Given the description of an element on the screen output the (x, y) to click on. 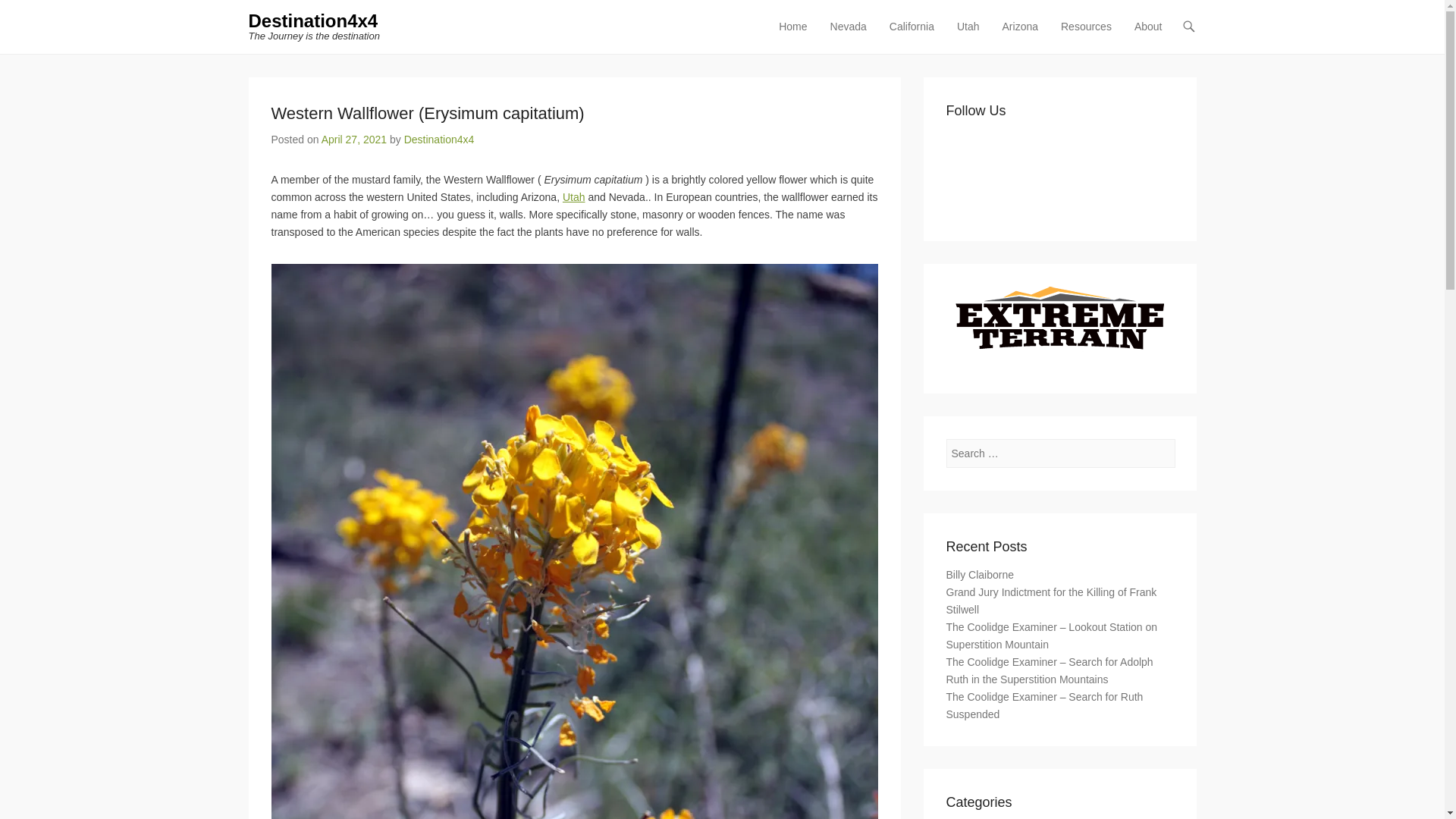
Home (792, 35)
4:27 pm (354, 139)
Skip to content (806, 27)
Destination4x4 (313, 20)
Nevada (848, 35)
California (912, 35)
View all posts by Destination4x4 (439, 139)
Skip to content (806, 27)
Destination4x4 (313, 20)
